Given the description of an element on the screen output the (x, y) to click on. 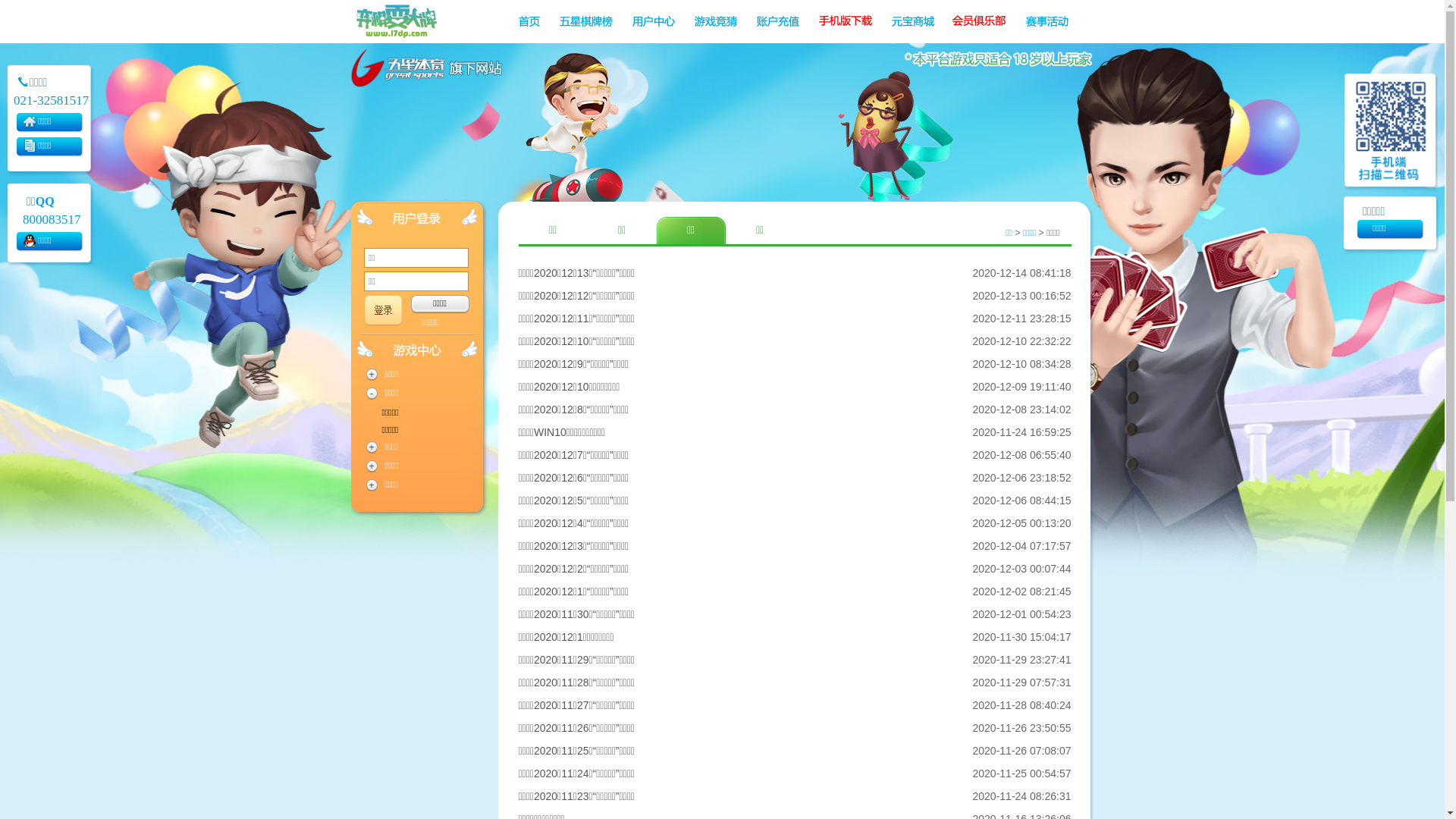
+ Element type: text (370, 447)
+ Element type: text (370, 374)
- Element type: text (370, 393)
+ Element type: text (370, 485)
+ Element type: text (370, 466)
